Given the description of an element on the screen output the (x, y) to click on. 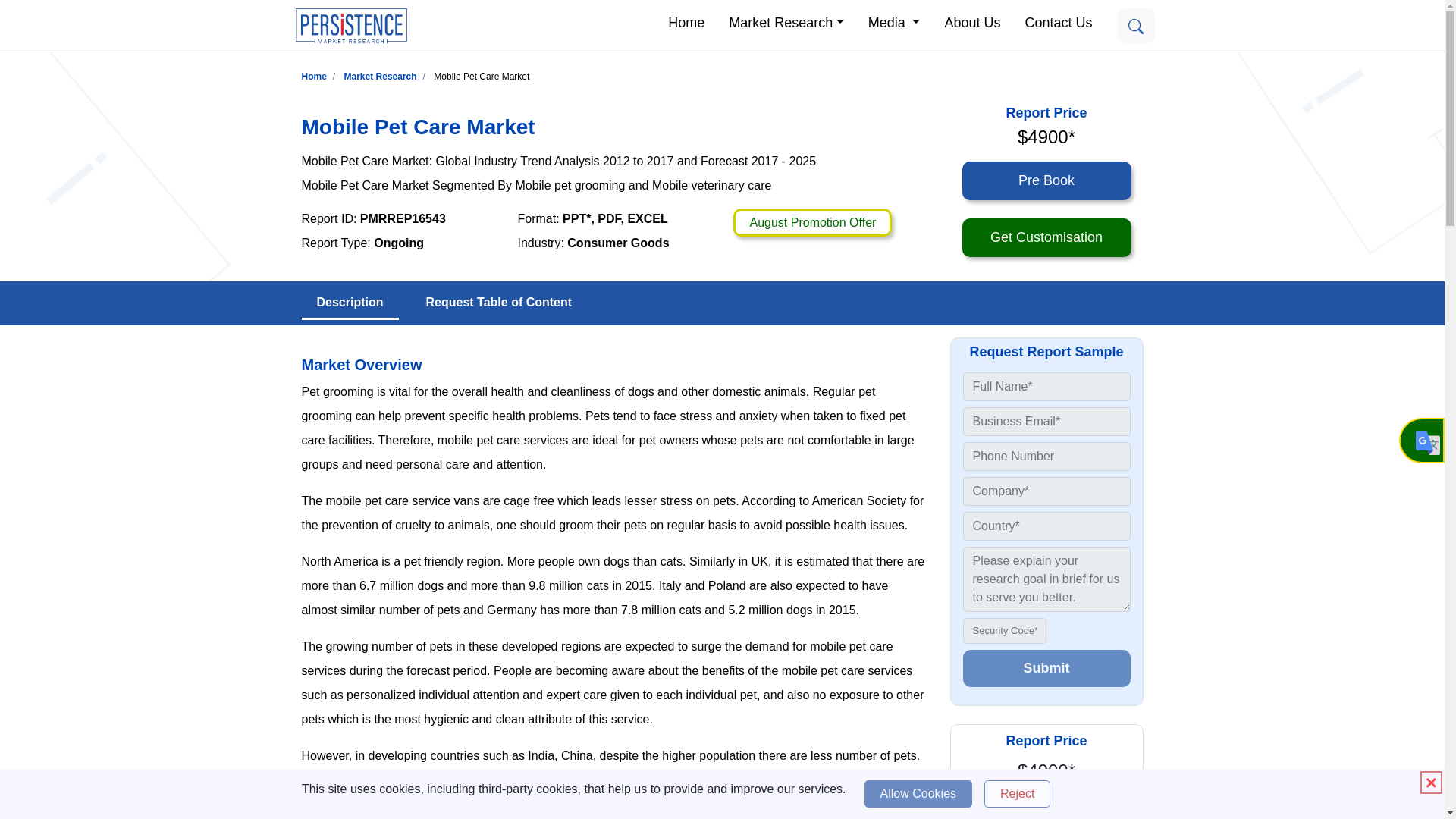
Request Table of Content (499, 302)
Persistence Market Report (313, 76)
Request Discount (812, 222)
Description (349, 303)
Home (313, 76)
Persistence Market Research Company (349, 25)
Persistence Market Research (379, 76)
About Us (971, 21)
Market Research (379, 76)
Contact Us (1057, 21)
